Given the description of an element on the screen output the (x, y) to click on. 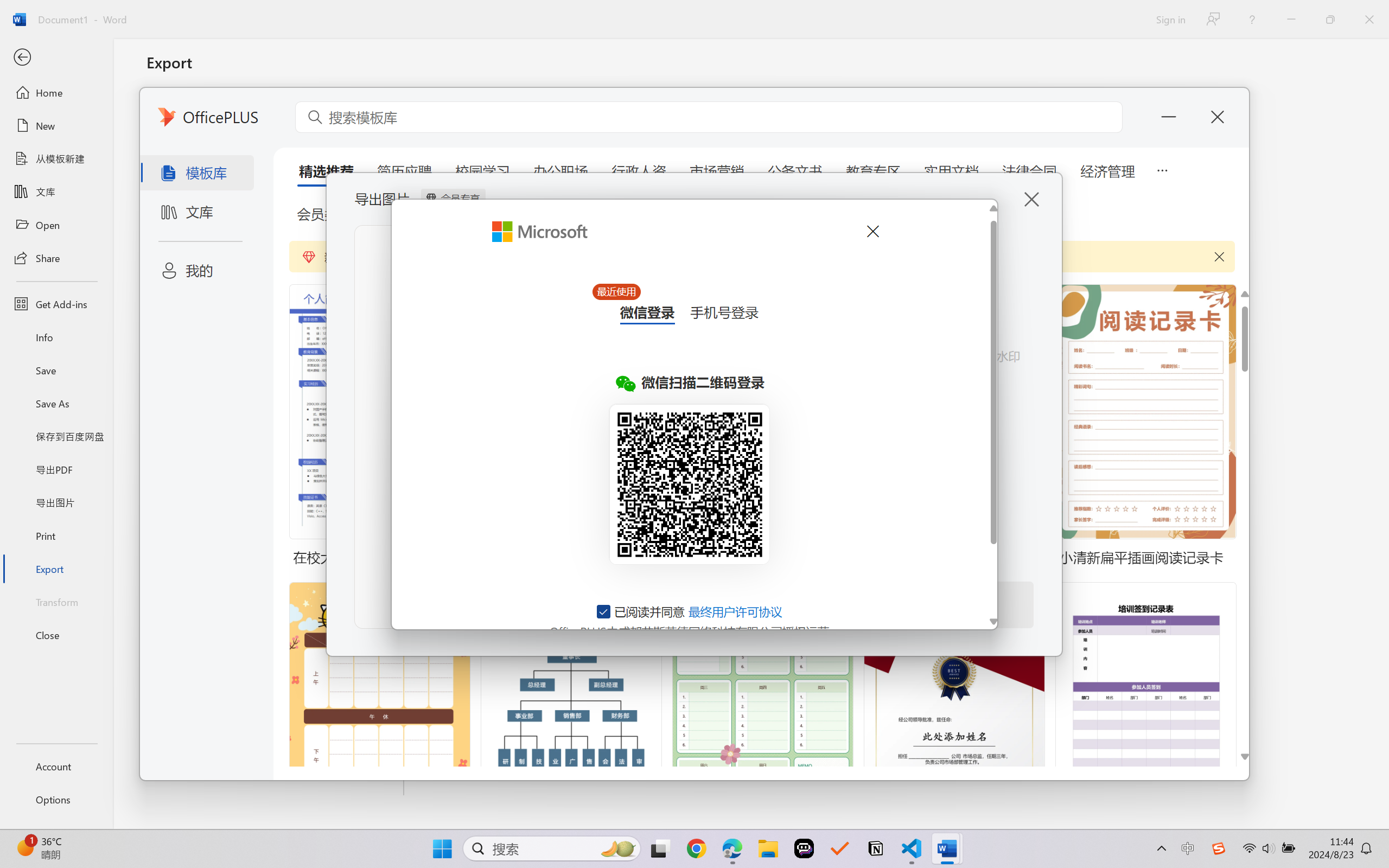
New (56, 125)
Change File Type (275, 158)
Info (56, 337)
